Given the description of an element on the screen output the (x, y) to click on. 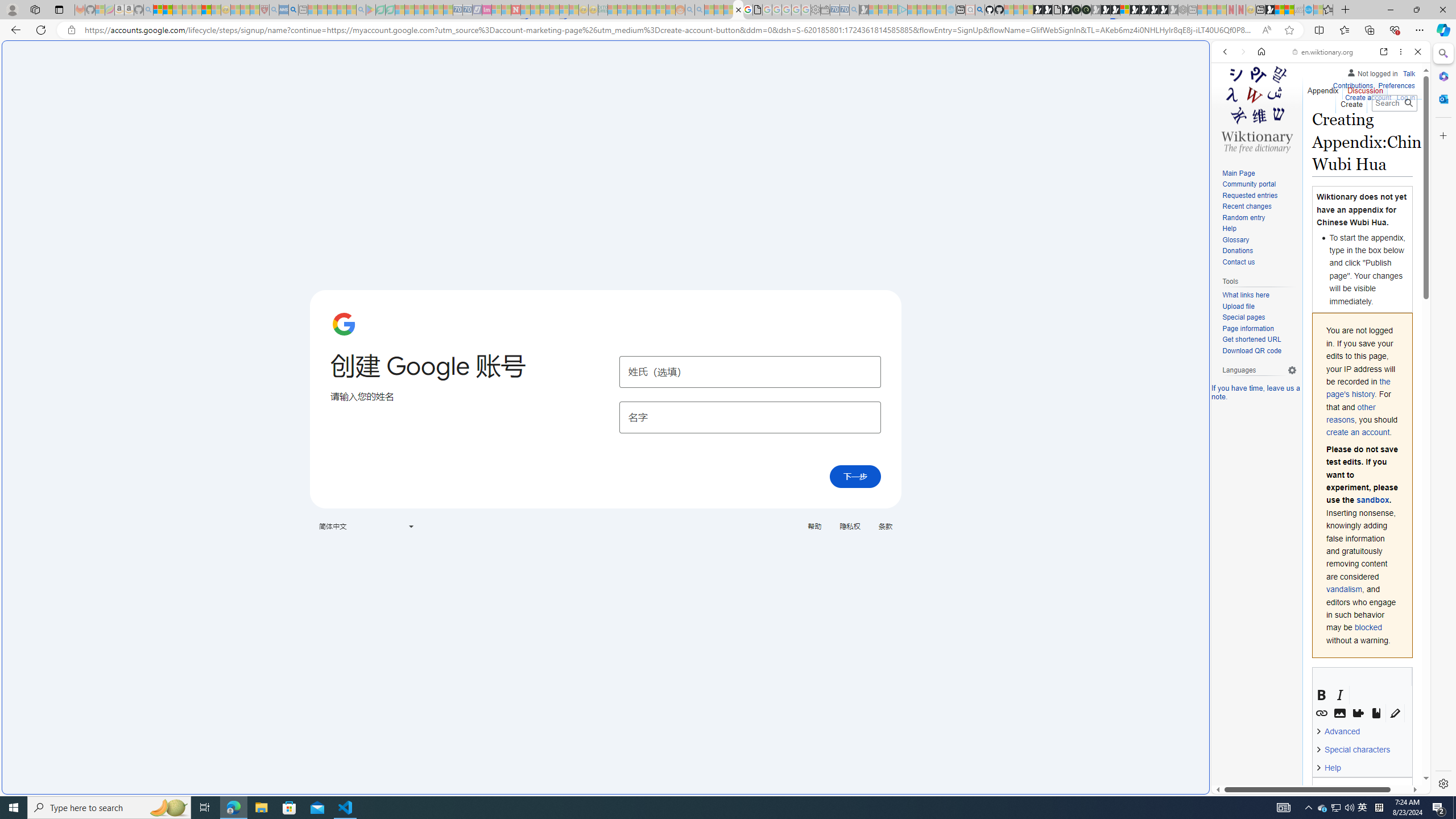
Close split screen (1208, 57)
Talk (1408, 73)
Wiktionary (1315, 380)
Get shortened URL (1259, 339)
Create account (1367, 96)
